Given the description of an element on the screen output the (x, y) to click on. 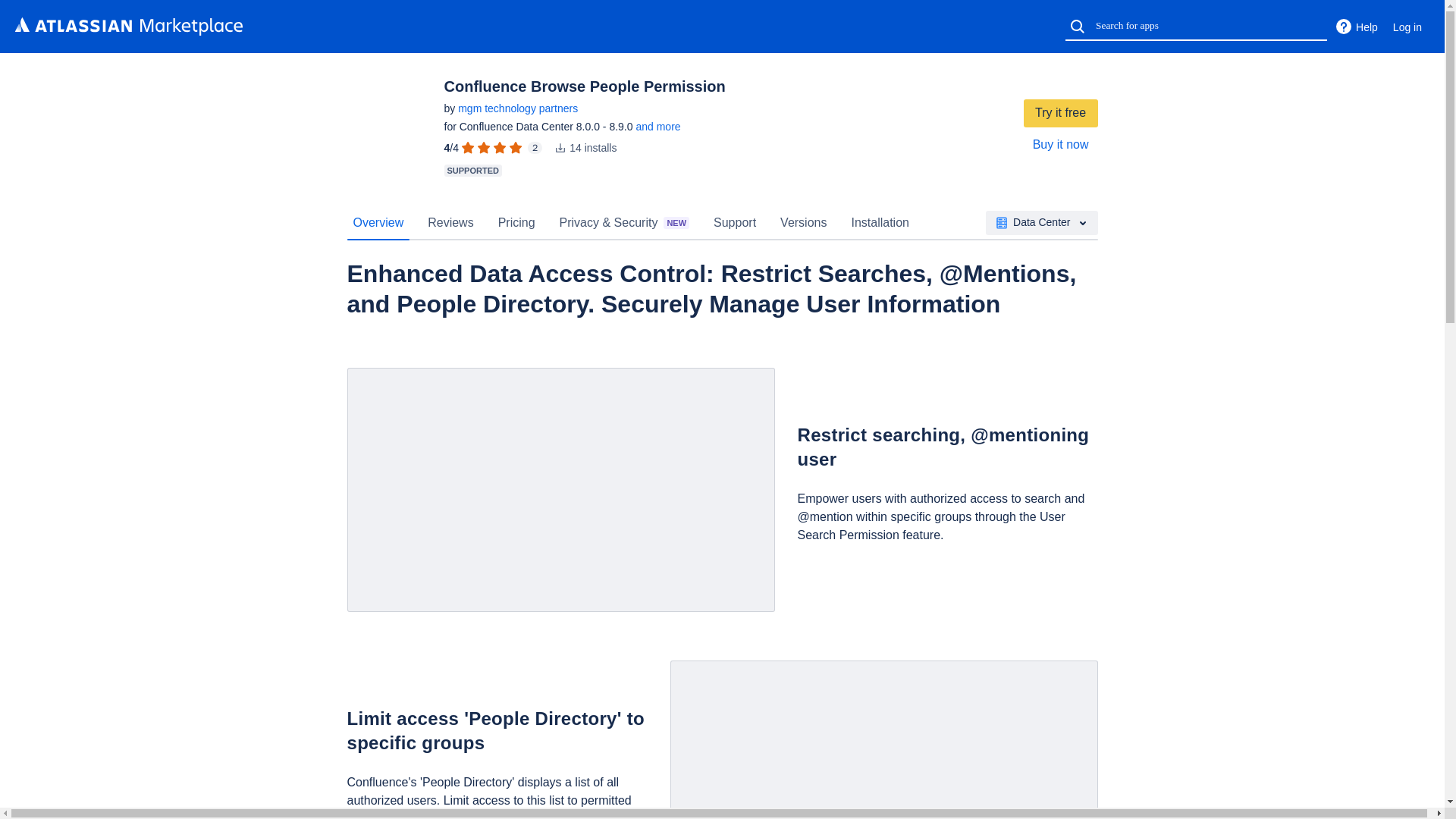
Atlassian Marketplace (128, 26)
View version history for more details (656, 126)
Buy it now (1060, 144)
Help (1356, 26)
Data Center (1041, 222)
Log in (1407, 26)
mgm technology partners (518, 108)
Try it free (1060, 113)
and more (656, 126)
